Given the description of an element on the screen output the (x, y) to click on. 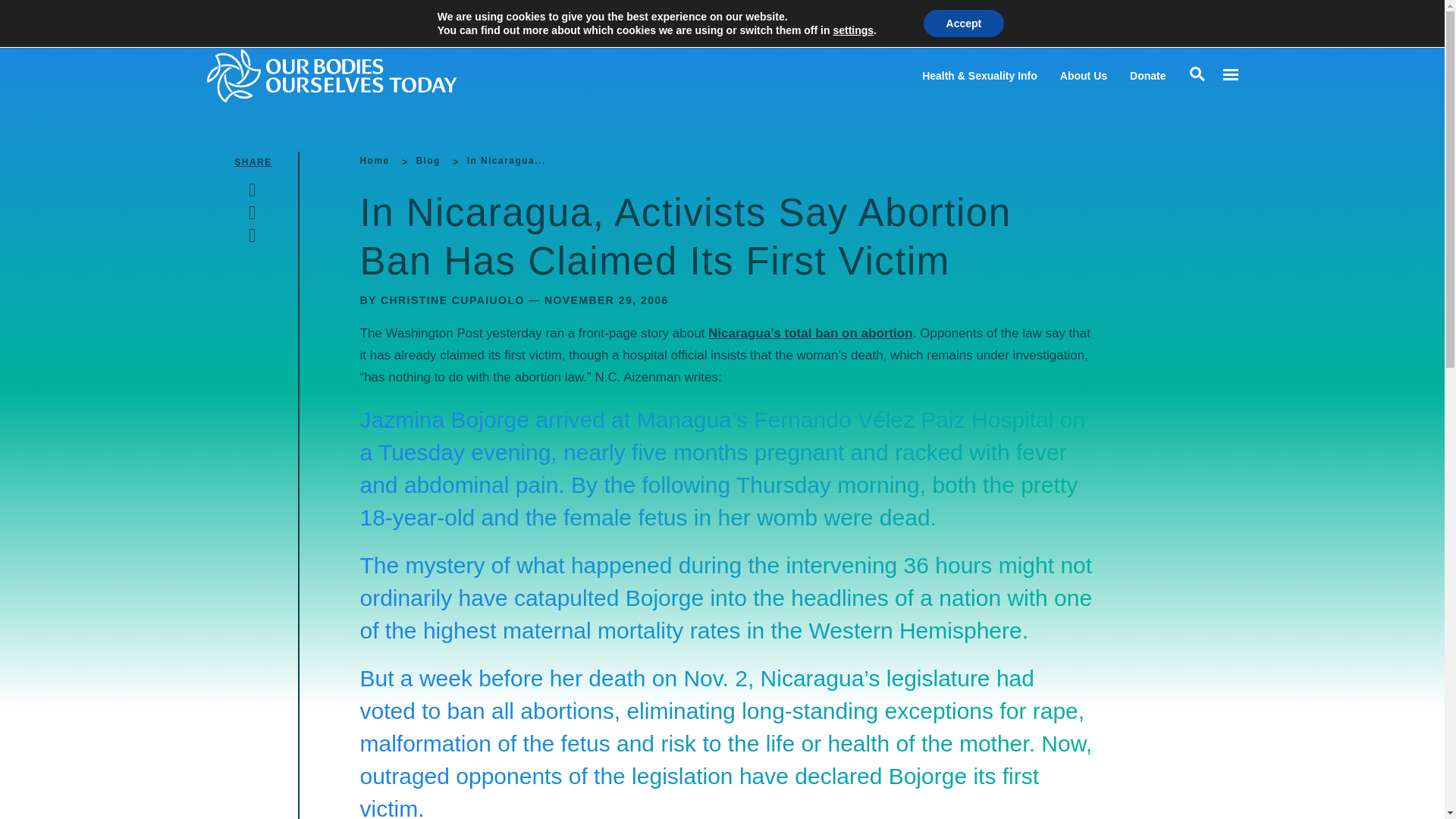
Our Bodies Ourselves Today (361, 75)
Expand navigation (1229, 75)
Blog (426, 160)
Search (15, 15)
Home (373, 160)
About Us (1083, 75)
Donate (1147, 75)
